Given the description of an element on the screen output the (x, y) to click on. 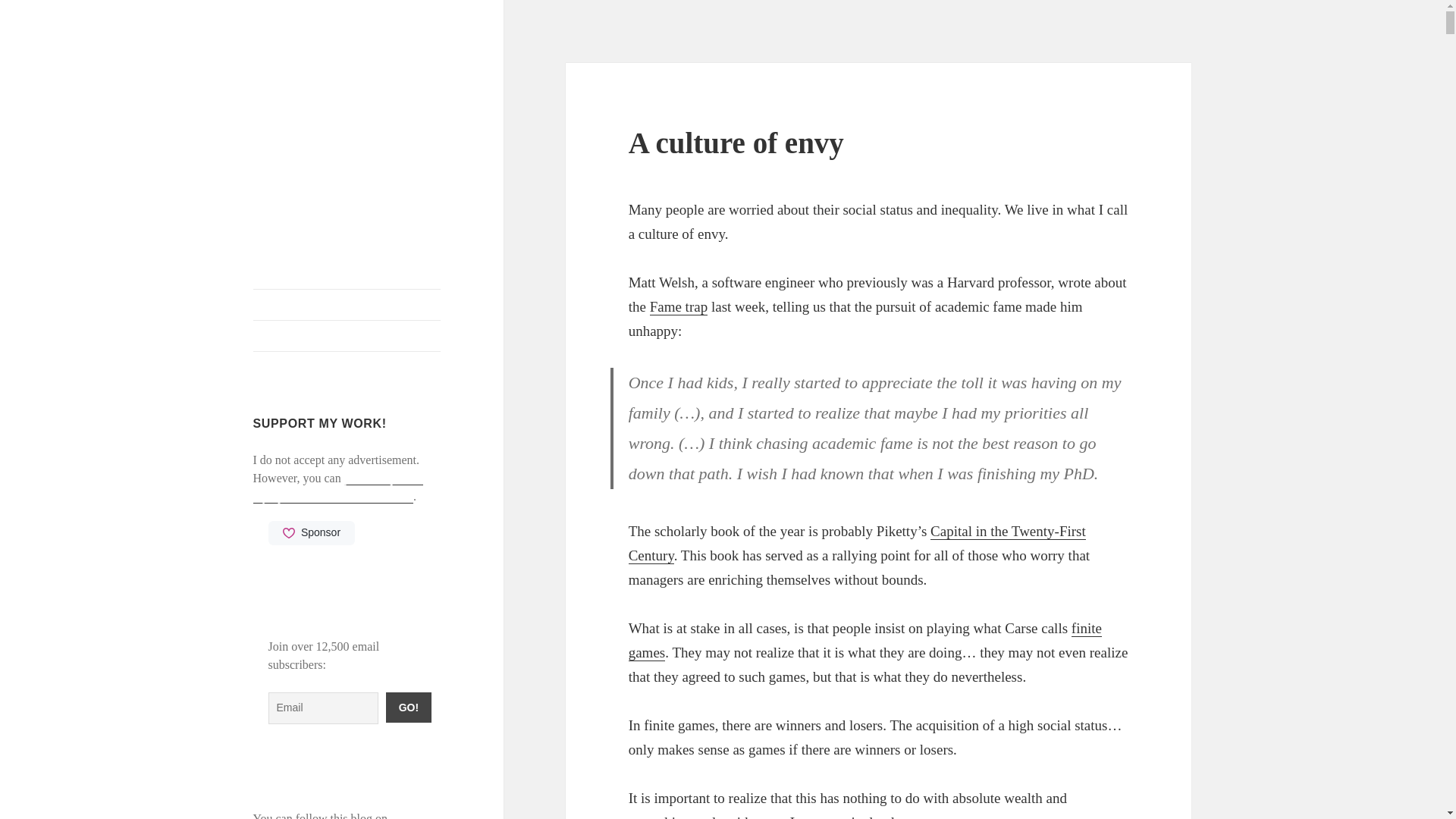
Sponsor lemire (311, 532)
GitHub profile (347, 336)
you can sponsor my open-source work on GitHub (338, 487)
Daniel Lemire's blog (328, 86)
My home page (347, 304)
Go! (407, 707)
telegram (411, 815)
Go! (407, 707)
